Given the description of an element on the screen output the (x, y) to click on. 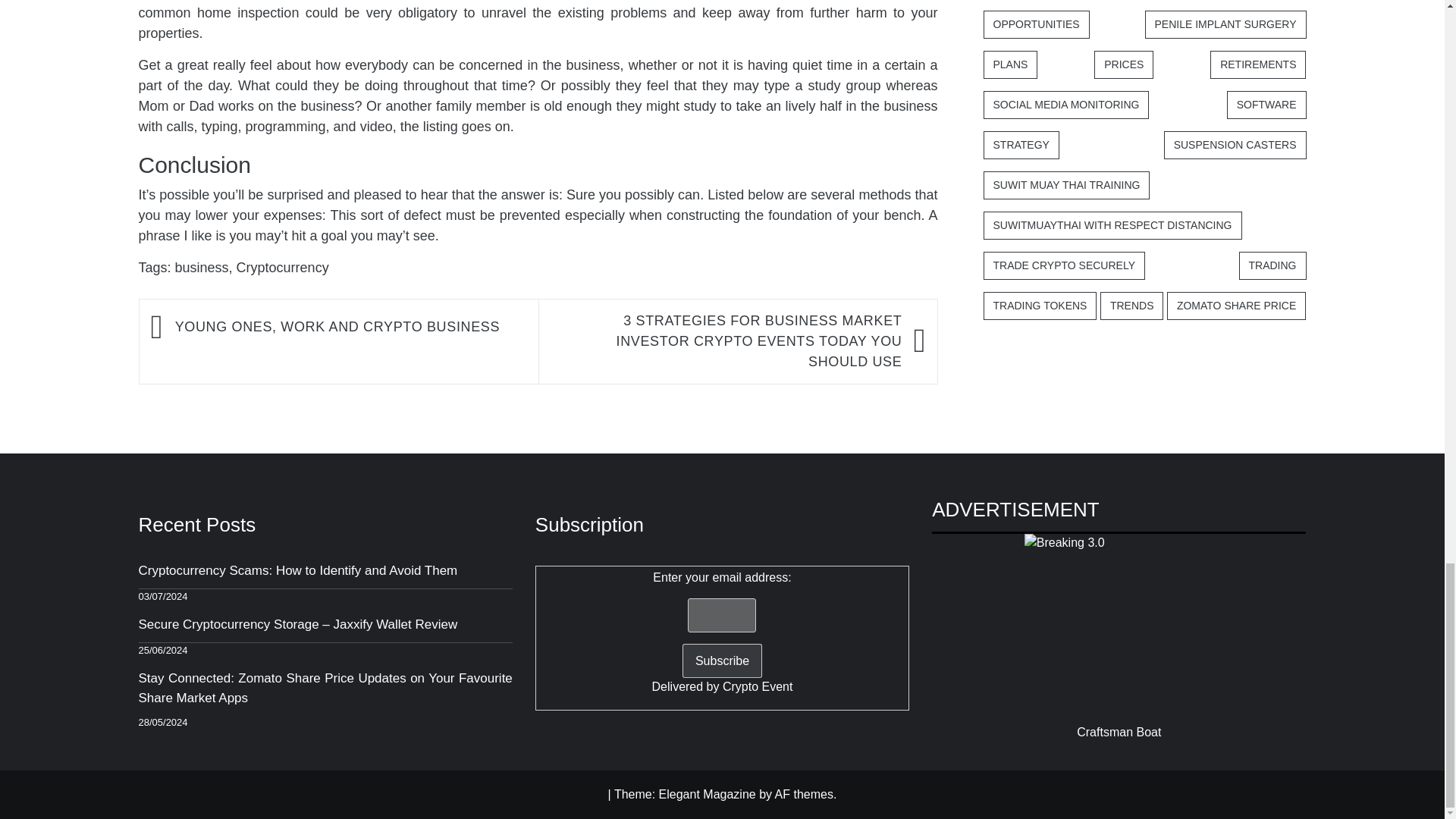
business (201, 267)
Subscribe (721, 660)
Breaking 3.0 (1119, 628)
YOUNG ONES, WORK AND CRYPTO BUSINESS (348, 327)
Cryptocurrency (282, 267)
